Given the description of an element on the screen output the (x, y) to click on. 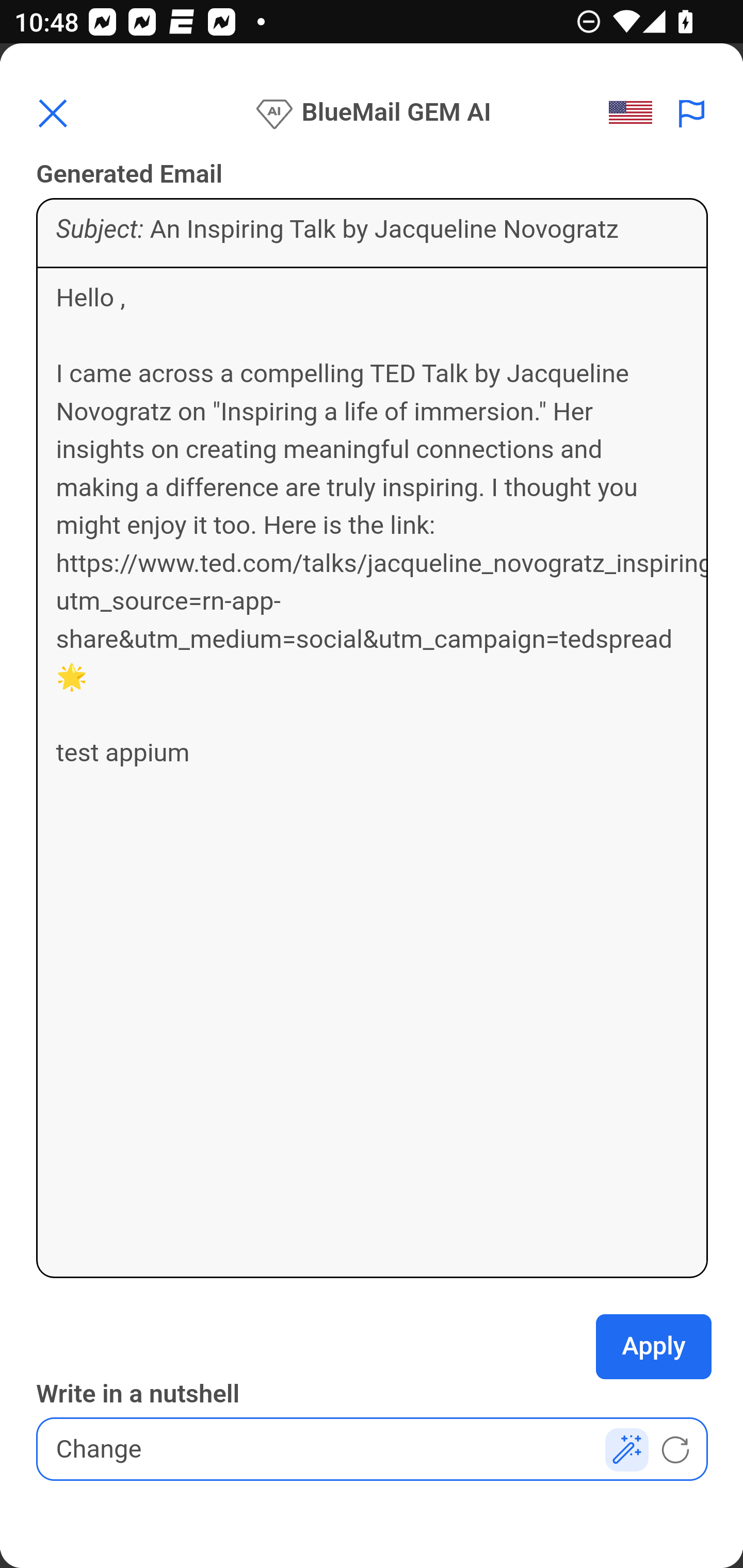
svg%3e (636, 113)
Report (692, 113)
Apply (654, 1346)
Change (372, 1449)
